Given the description of an element on the screen output the (x, y) to click on. 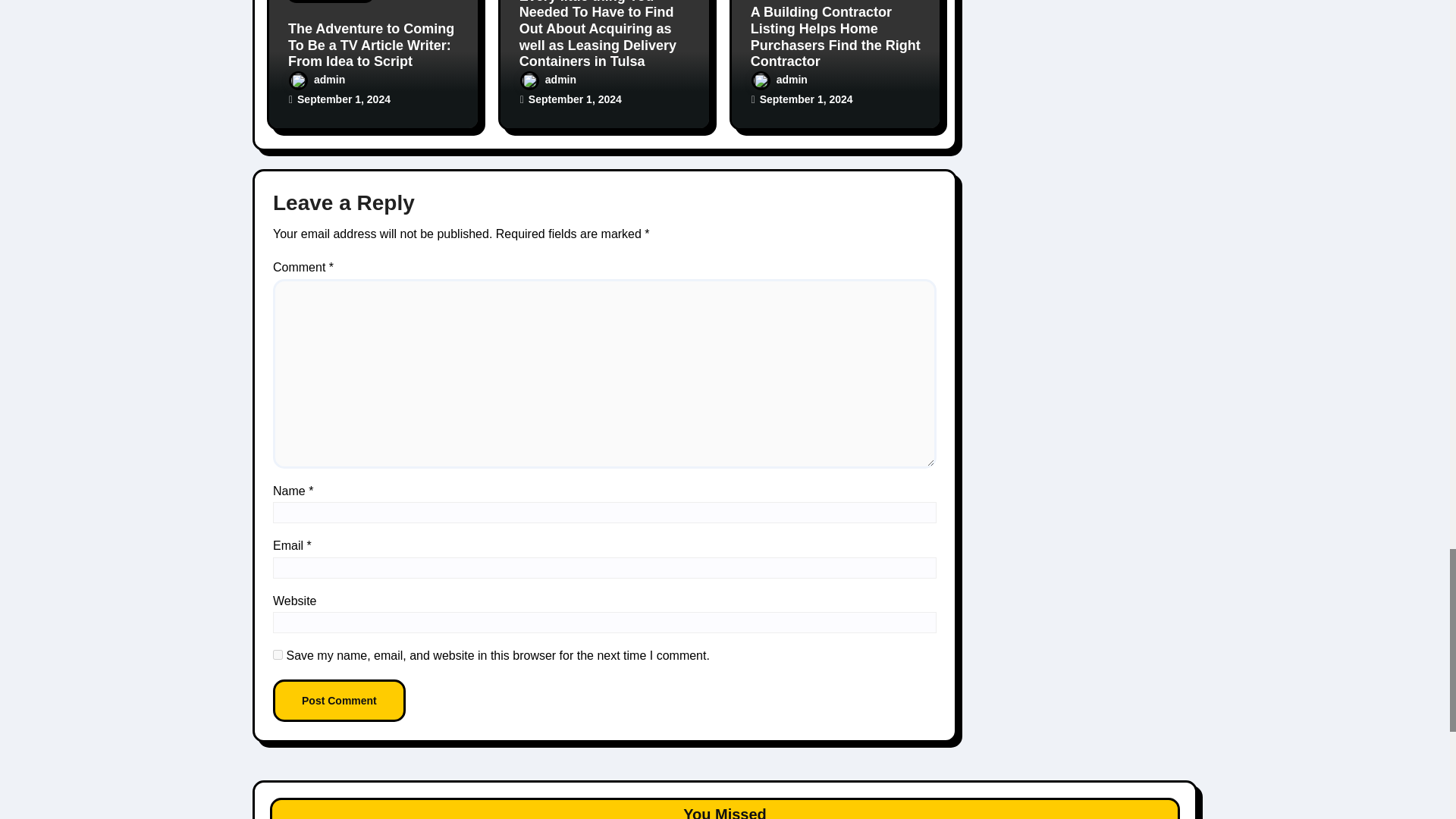
Post Comment (339, 700)
yes (277, 655)
